Given the description of an element on the screen output the (x, y) to click on. 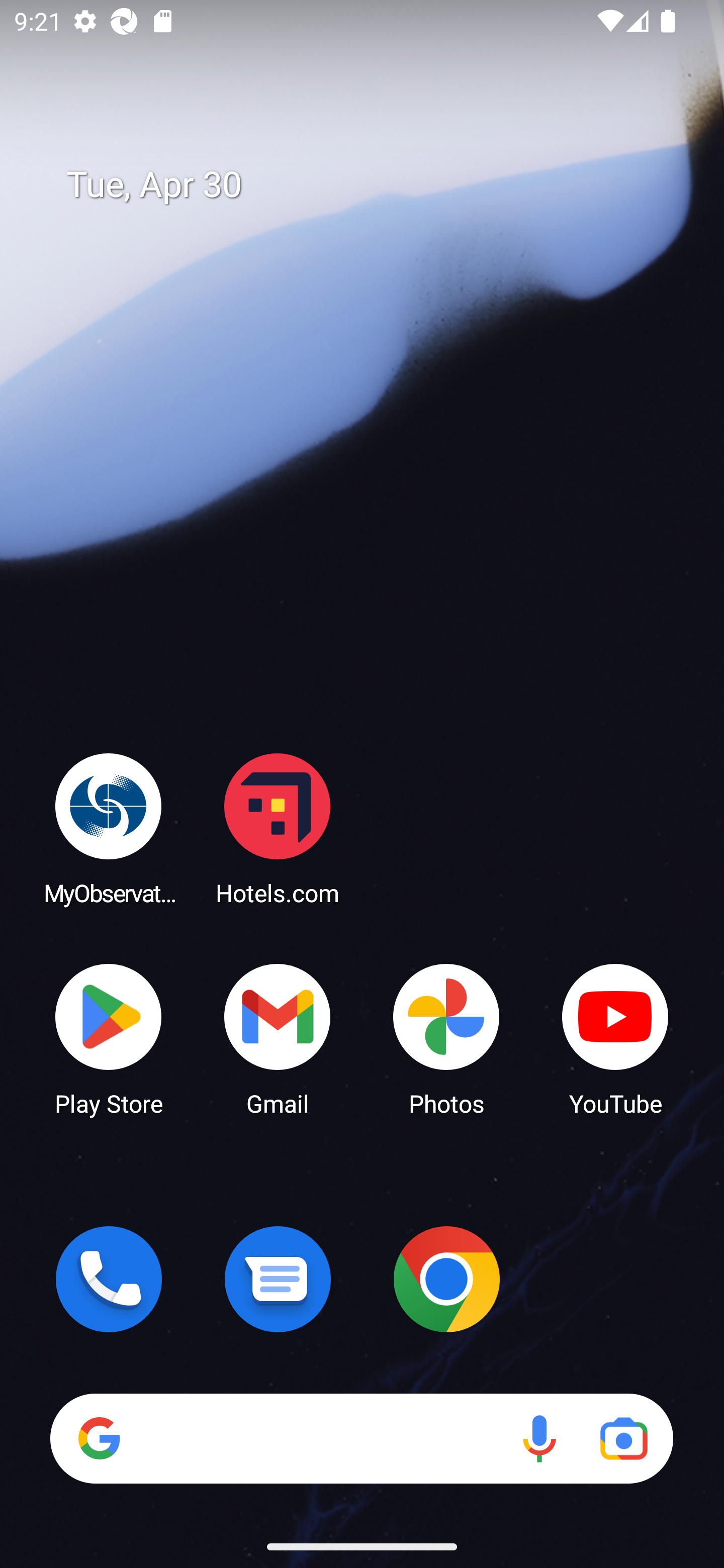
Tue, Apr 30 (375, 184)
MyObservatory (108, 828)
Hotels.com (277, 828)
Play Store (108, 1038)
Gmail (277, 1038)
Photos (445, 1038)
YouTube (615, 1038)
Phone (108, 1279)
Messages (277, 1279)
Chrome (446, 1279)
Voice search (539, 1438)
Google Lens (623, 1438)
